Given the description of an element on the screen output the (x, y) to click on. 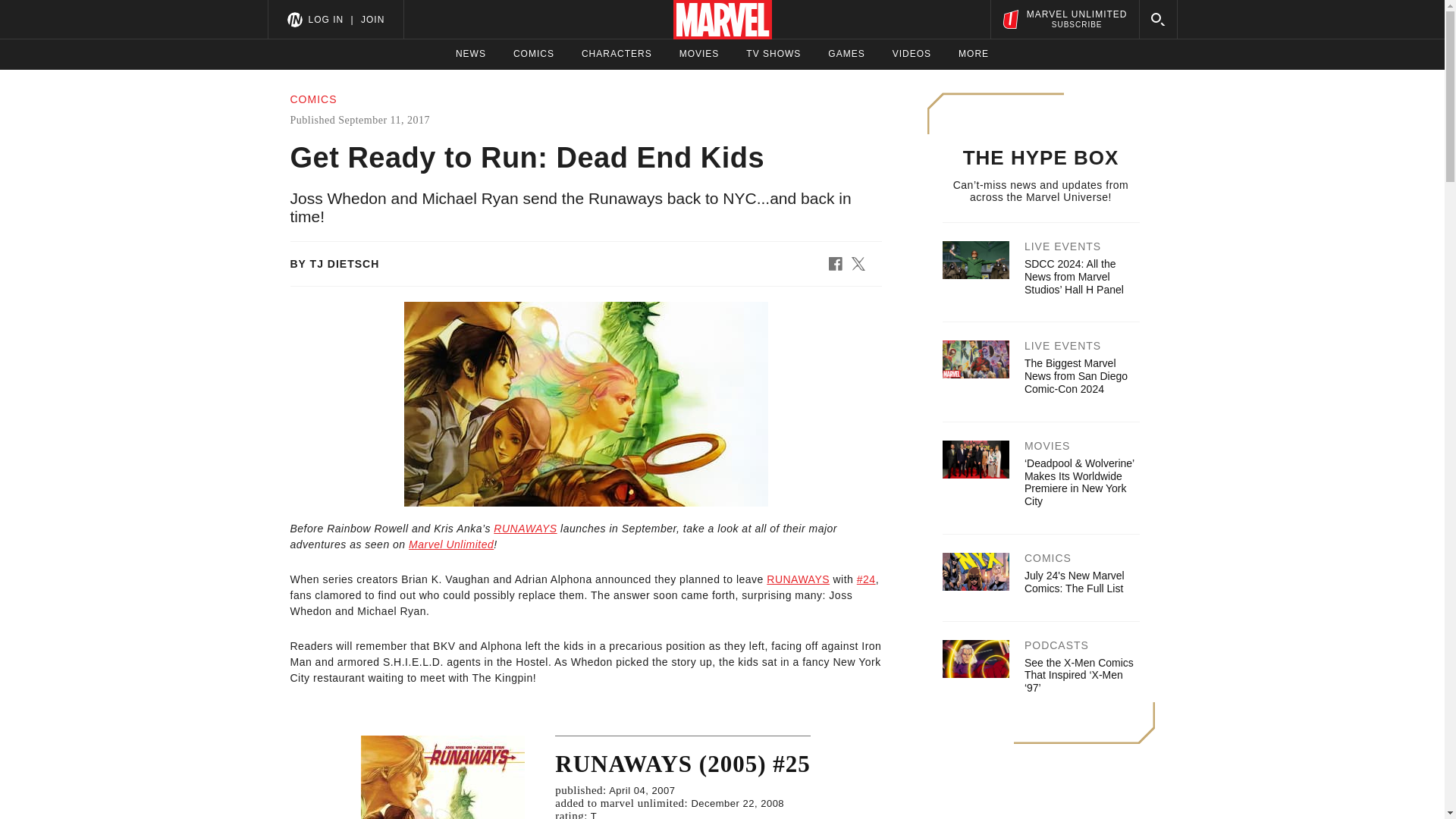
JOIN (372, 18)
CHARACTERS (616, 54)
COMICS (533, 54)
MOVIES (699, 54)
GAMES (846, 54)
TV SHOWS (772, 54)
LOG IN (325, 18)
RUNAWAYS (798, 579)
VIDEOS (911, 54)
Marvel Unlimited (1064, 19)
RUNAWAYS (451, 544)
NEWS (524, 528)
MORE (470, 54)
